Given the description of an element on the screen output the (x, y) to click on. 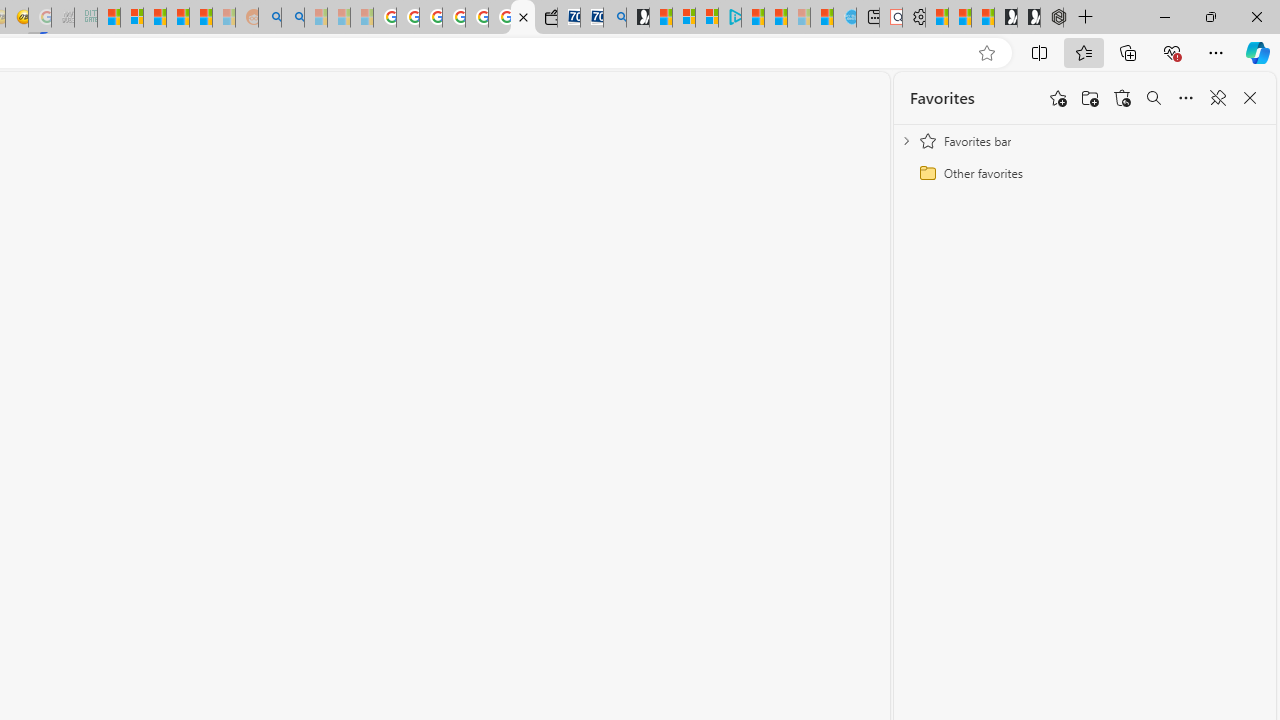
Add folder (1089, 98)
Restore deleted favorites (1122, 98)
